Given the description of an element on the screen output the (x, y) to click on. 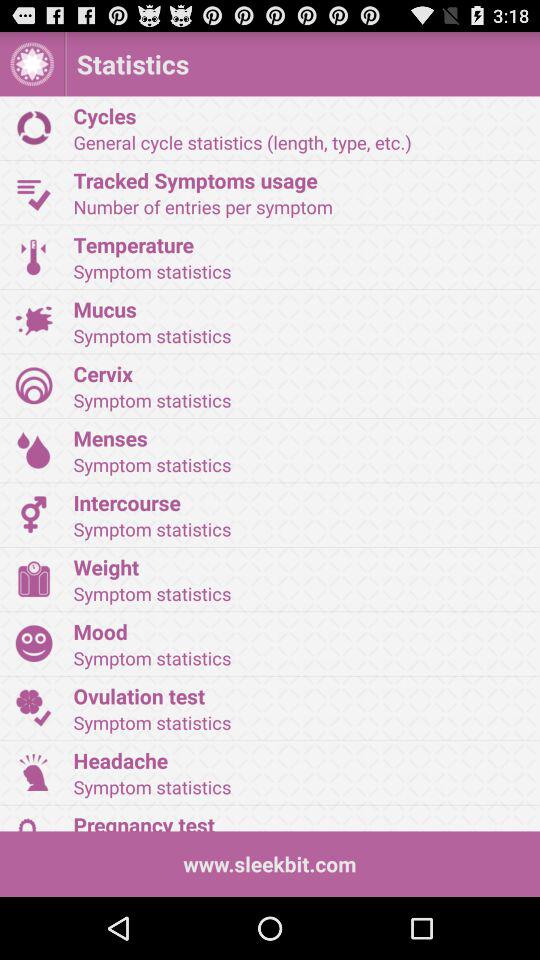
press the menses item (299, 437)
